Given the description of an element on the screen output the (x, y) to click on. 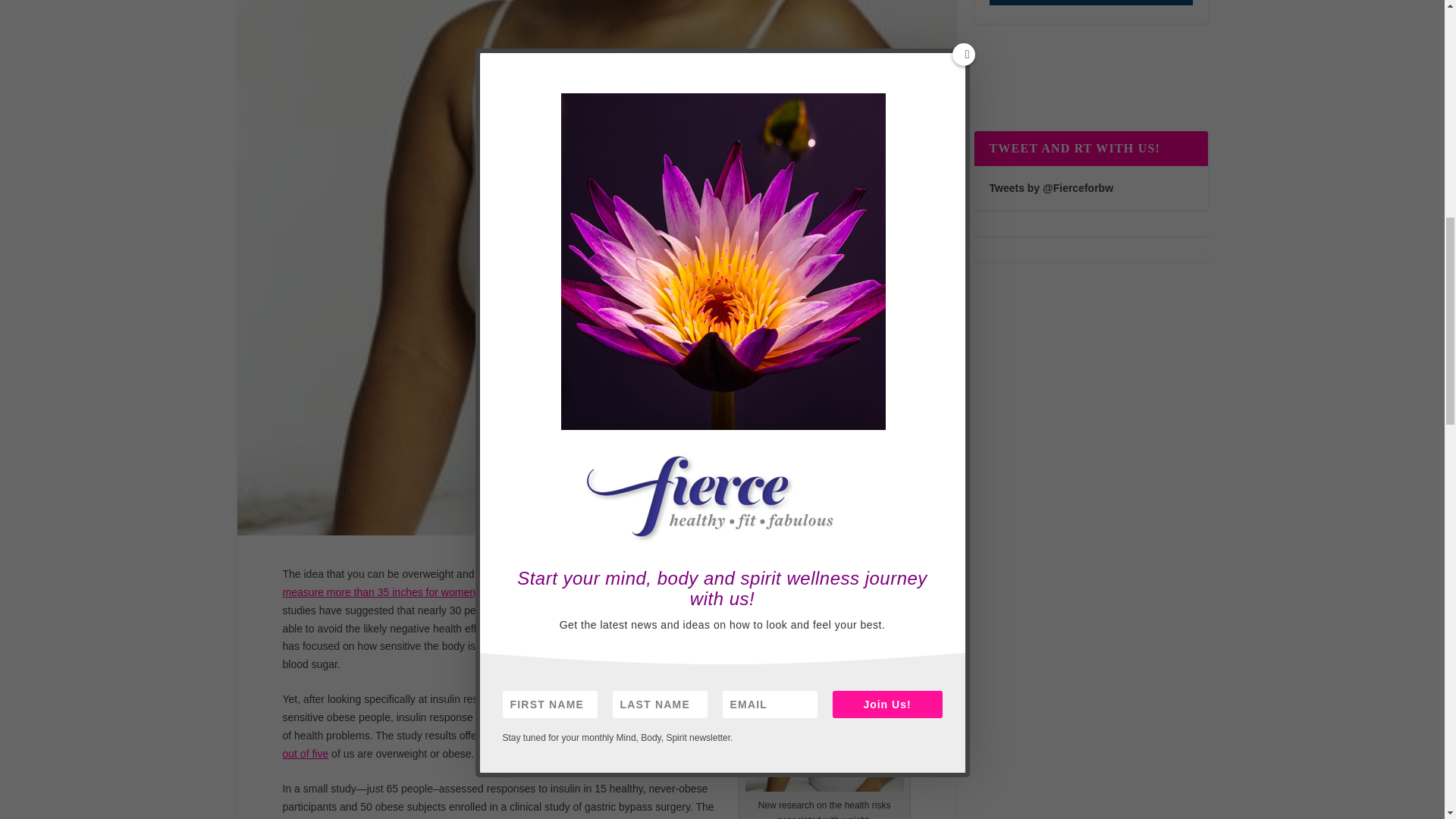
Can You Really Be Overweight and Healthy? (823, 681)
